Given the description of an element on the screen output the (x, y) to click on. 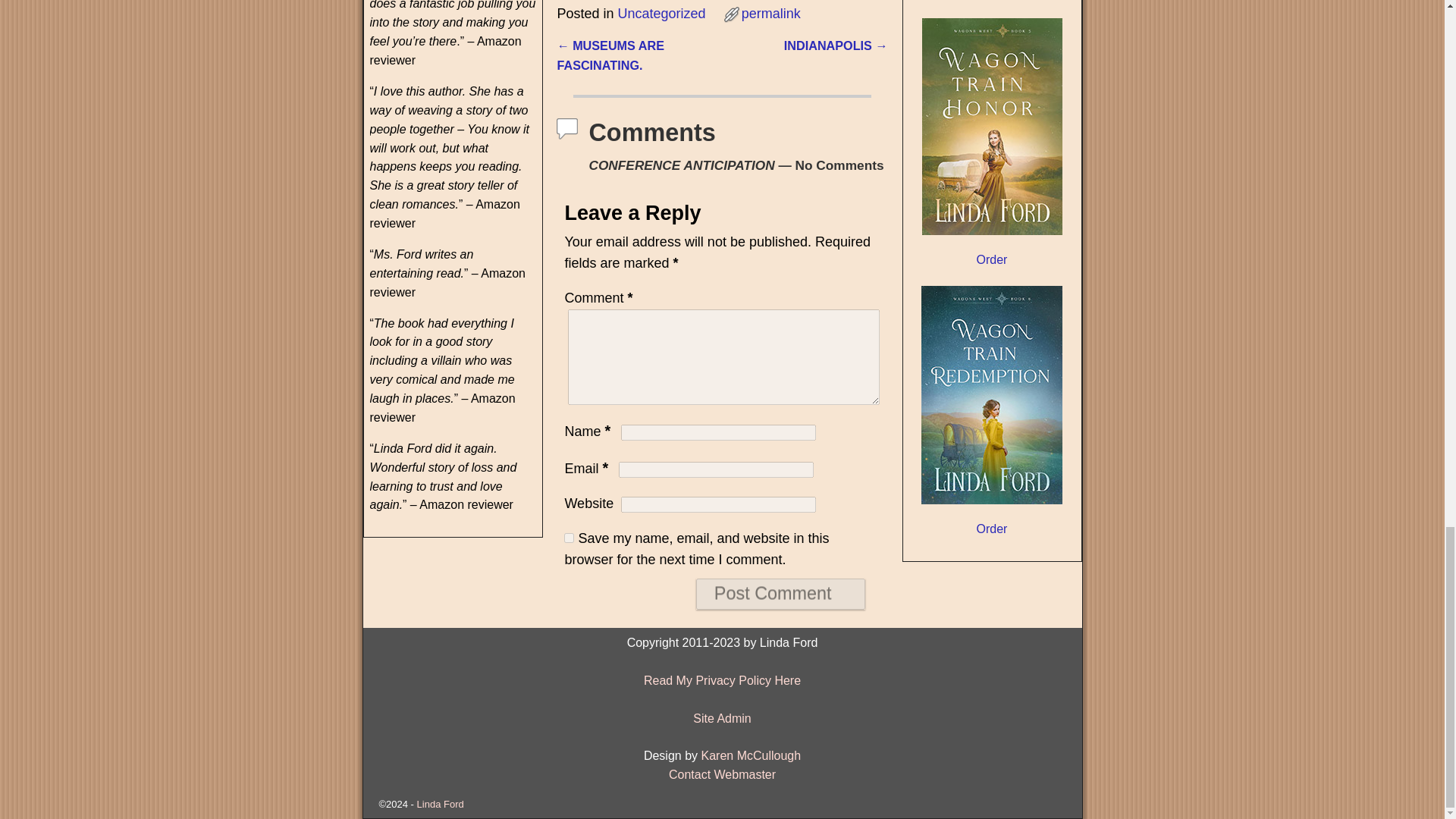
Linda Ford (440, 803)
Post Comment (779, 593)
permalink (770, 13)
yes (568, 537)
Uncategorized (661, 13)
Permalink to CONFERENCE ANTICIPATION (770, 13)
Post Comment (779, 593)
